Given the description of an element on the screen output the (x, y) to click on. 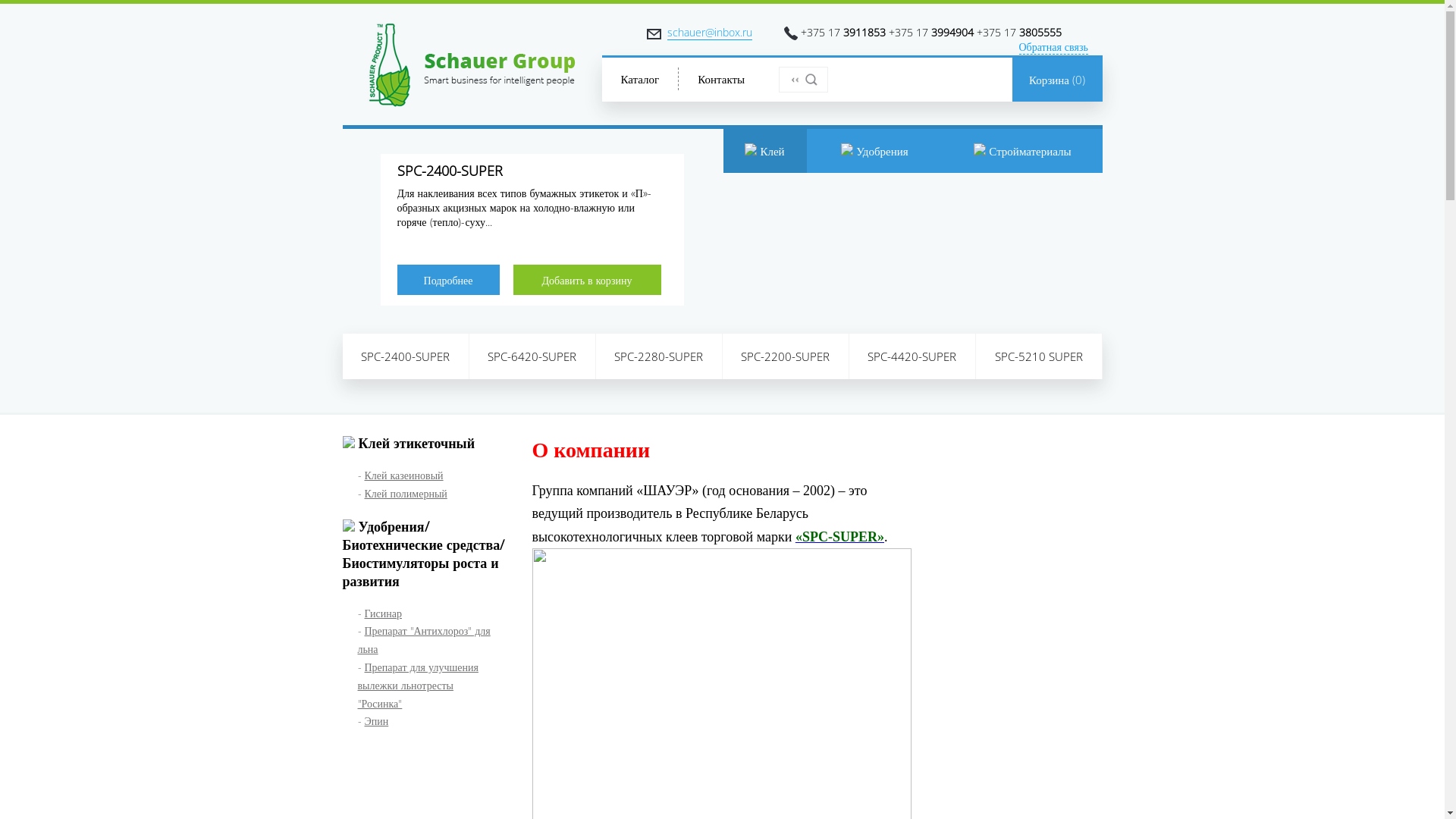
SPC-2400-SUPER Element type: text (405, 356)
SPC-2280-SUPER Element type: text (659, 356)
SPC-2200-SUPER Element type: text (784, 356)
SPC-5210 SUPER Element type: text (1038, 356)
SPC-6420-SUPER Element type: text (531, 356)
schauer@inbox.ru Element type: text (709, 32)
SPC-4420-SUPER Element type: text (912, 356)
